Given the description of an element on the screen output the (x, y) to click on. 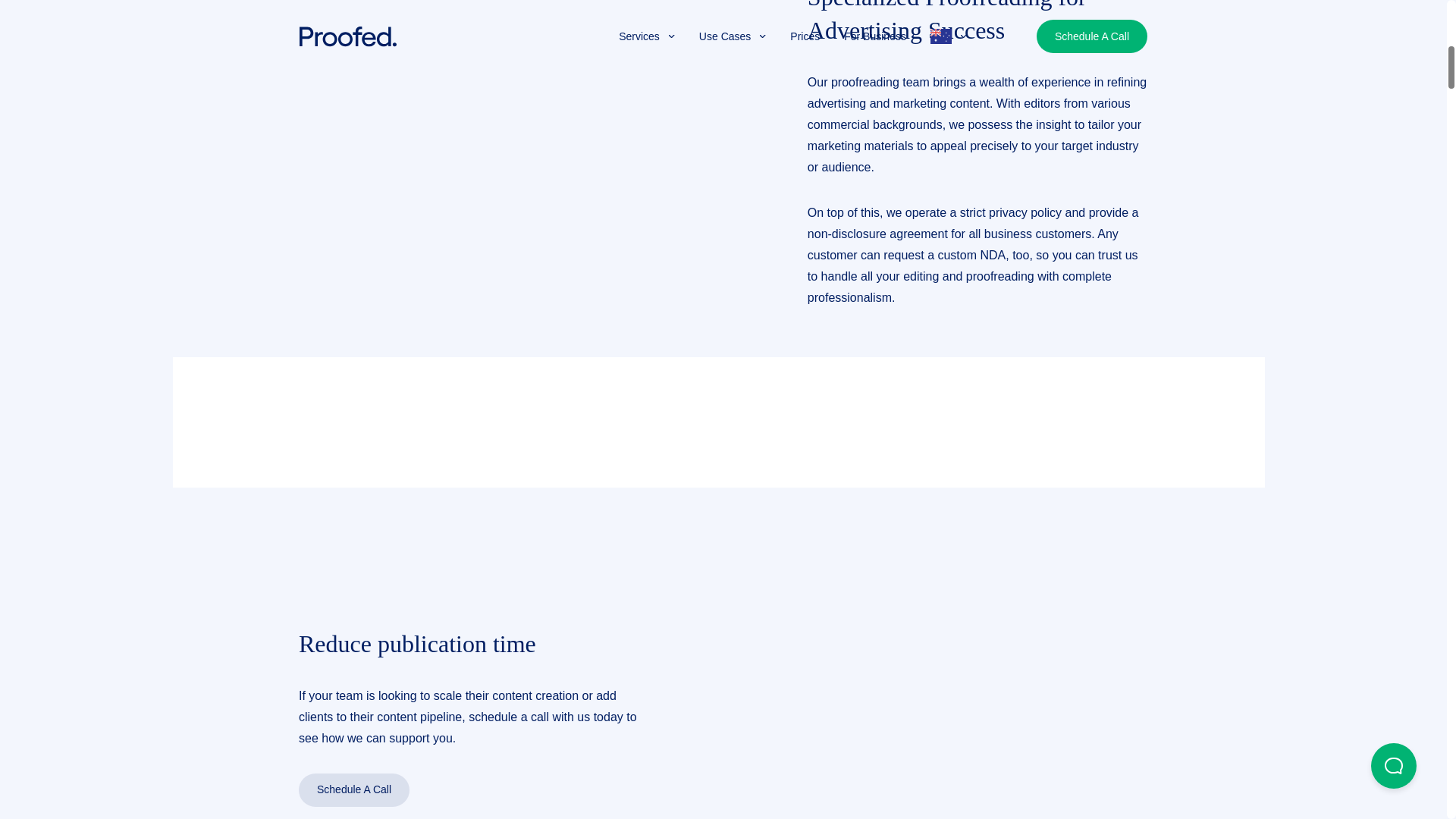
Schedule A Call (353, 789)
